Given the description of an element on the screen output the (x, y) to click on. 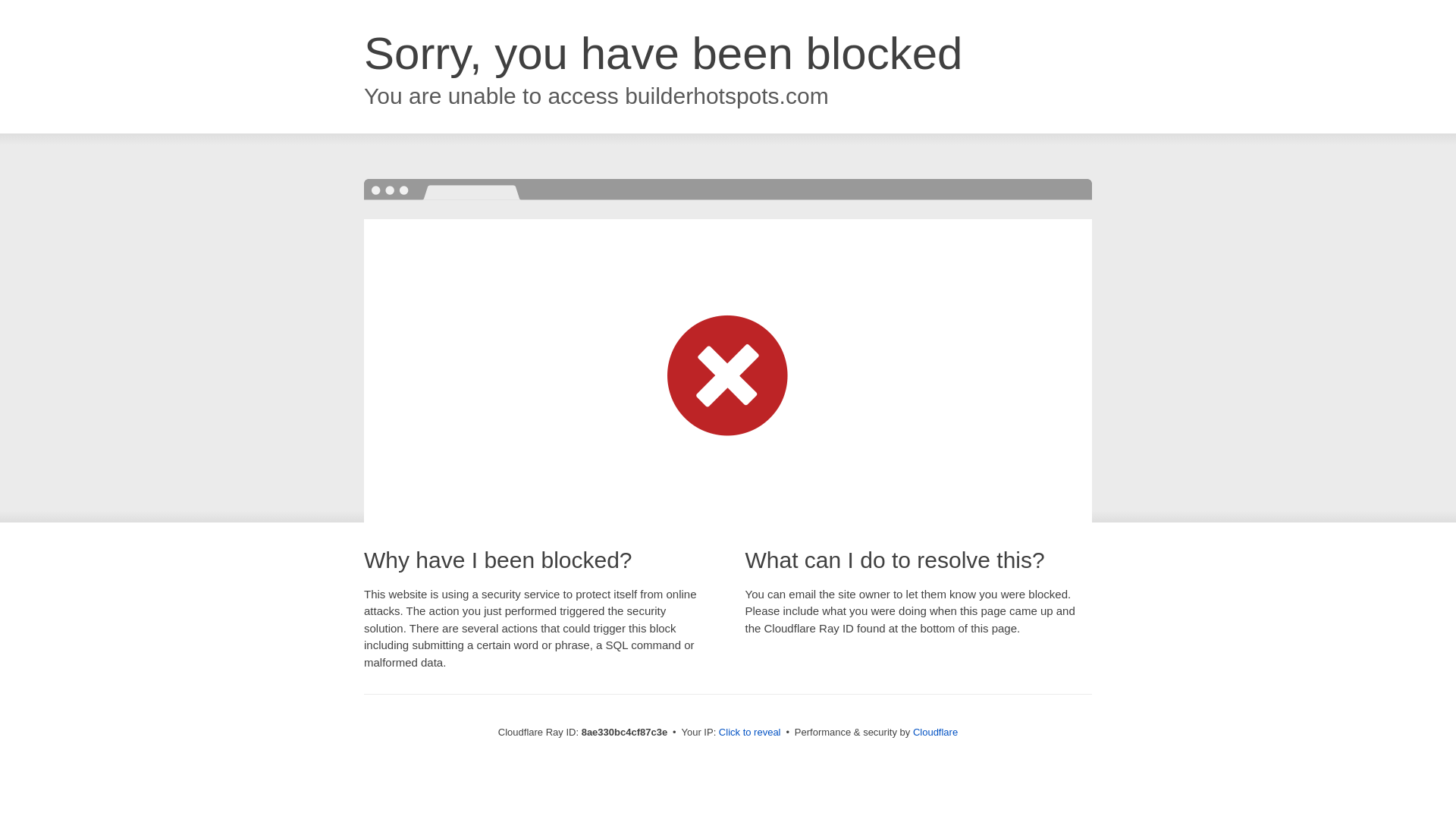
Cloudflare (935, 731)
Click to reveal (749, 732)
